Given the description of an element on the screen output the (x, y) to click on. 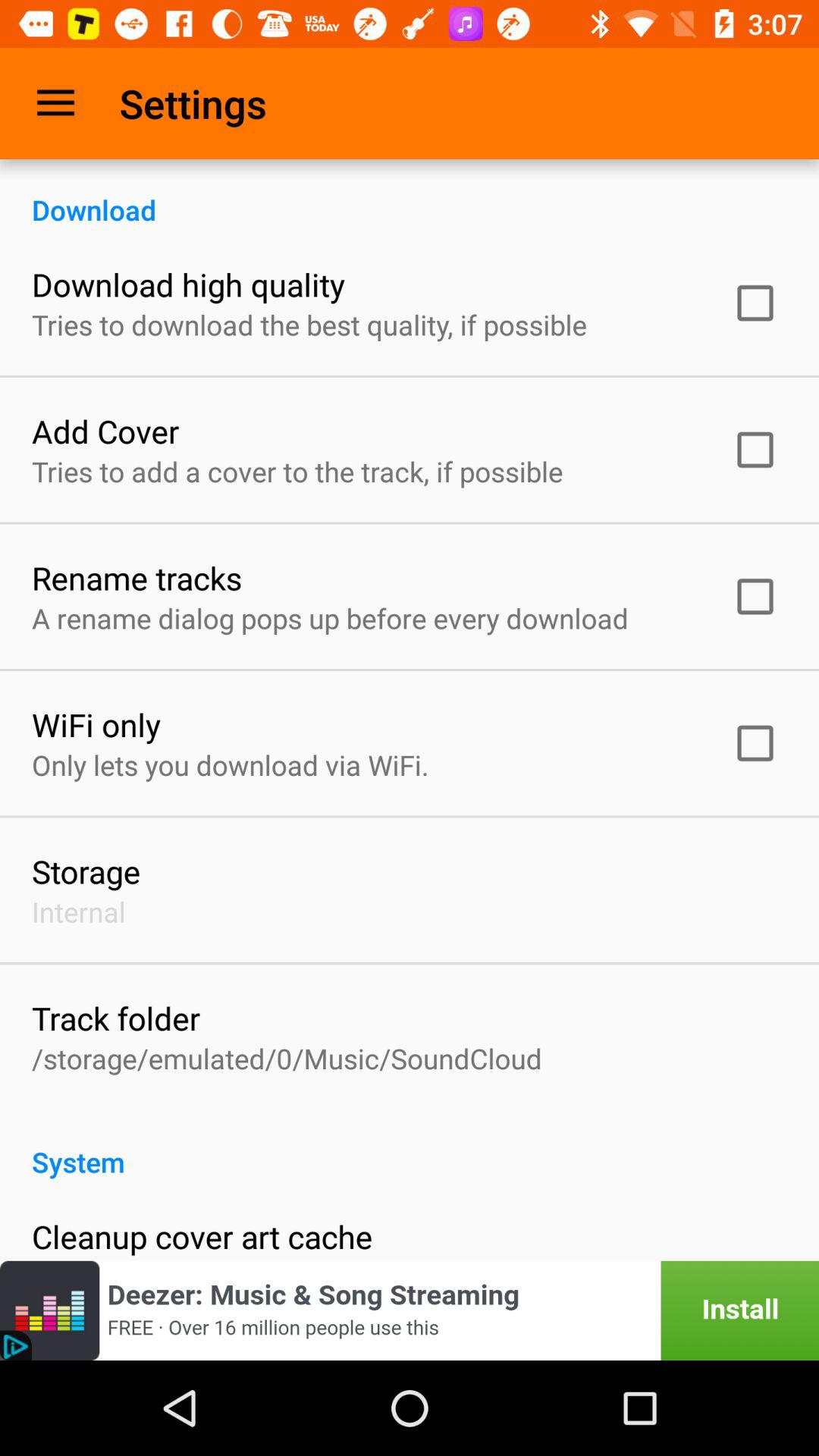
turn off the item at the center (329, 618)
